Given the description of an element on the screen output the (x, y) to click on. 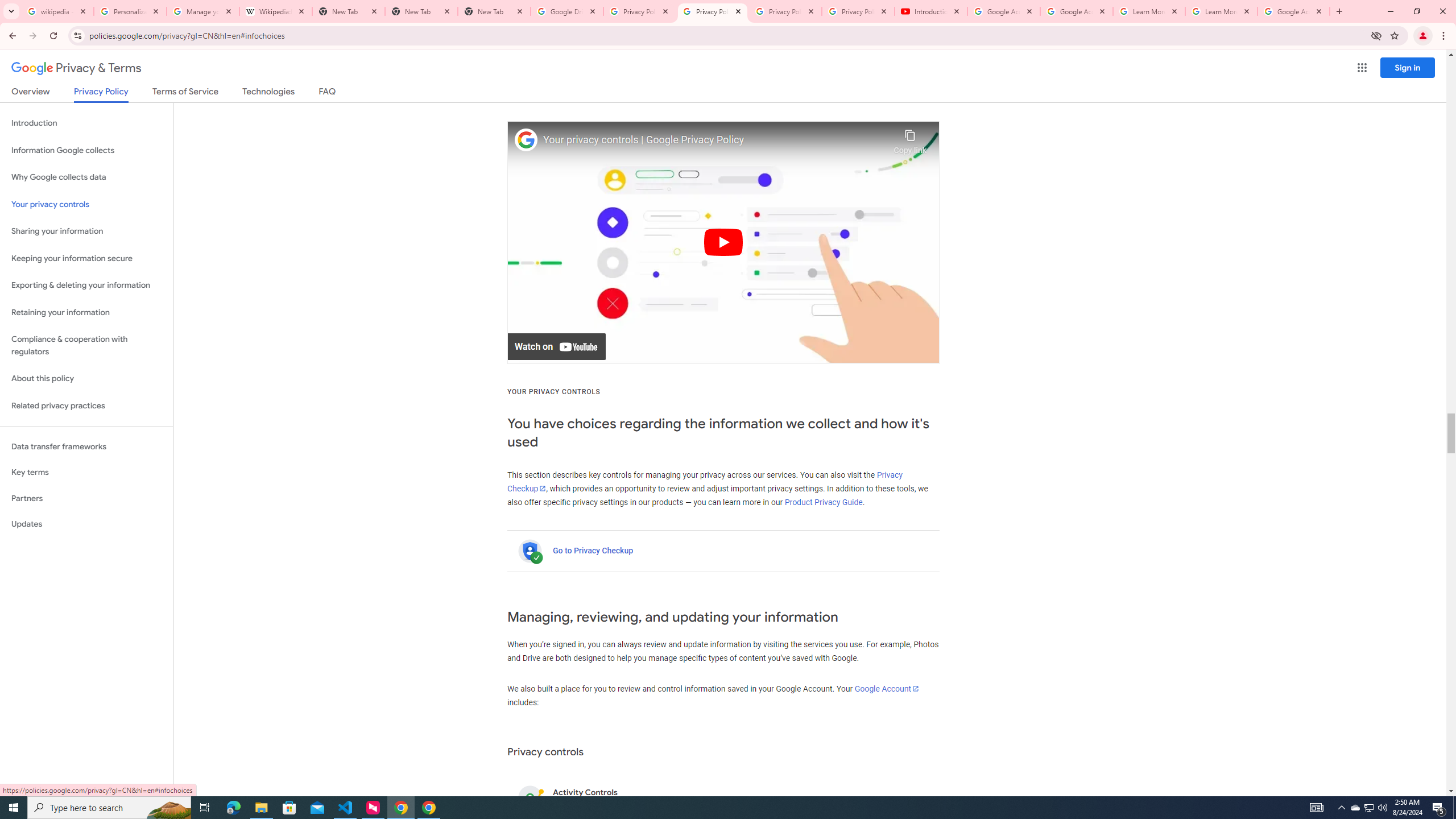
Google Drive: Sign-in (566, 11)
Partners (86, 497)
Why Google collects data (86, 176)
Information Google collects (86, 150)
Introduction | Google Privacy Policy - YouTube (930, 11)
FAQ (327, 93)
Exporting & deleting your information (86, 284)
Key terms (86, 472)
Retaining your information (86, 312)
Technologies (268, 93)
